Given the description of an element on the screen output the (x, y) to click on. 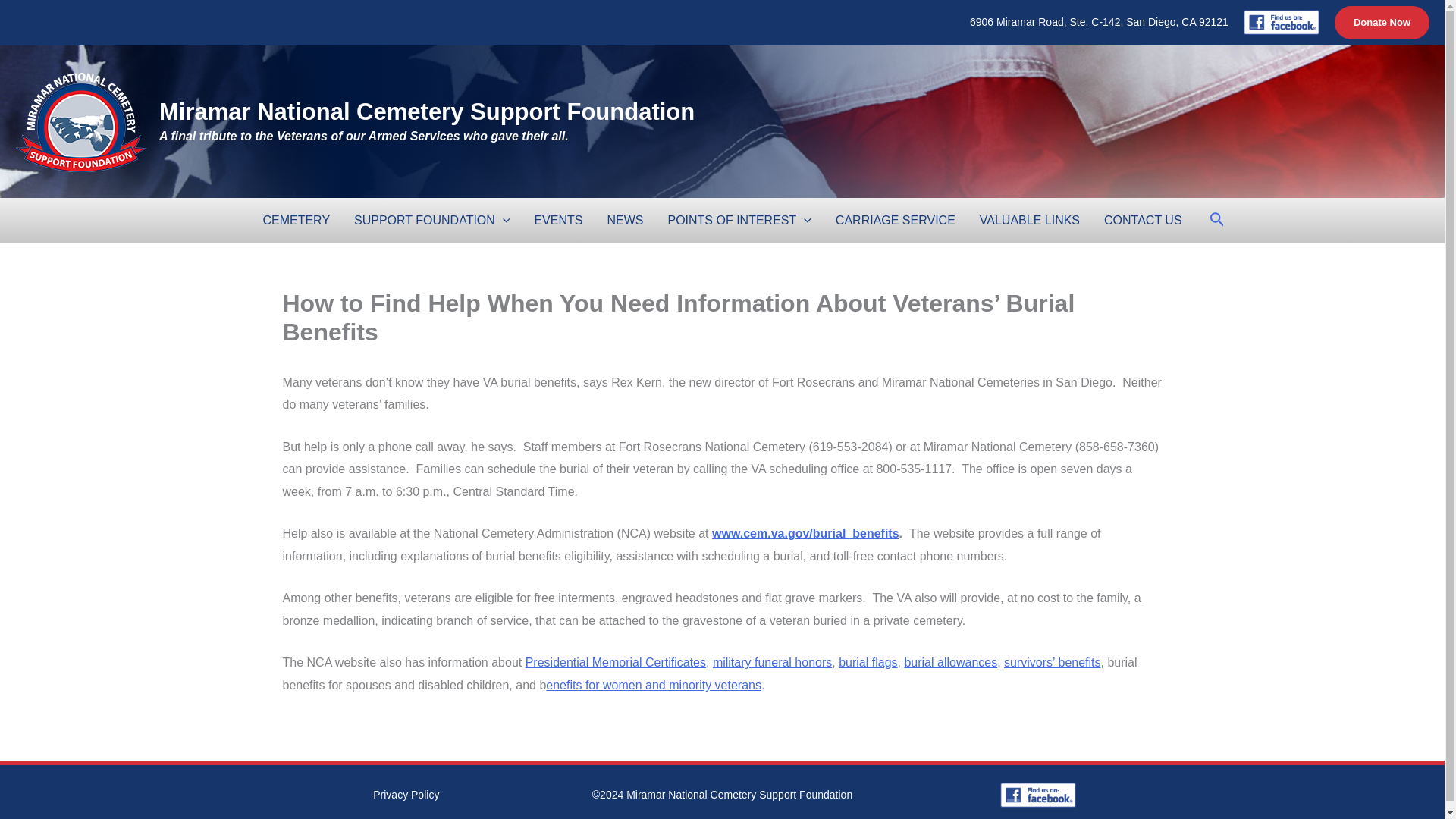
Miramar National Cemetery Support Foundation (426, 111)
POINTS OF INTEREST (738, 220)
NEWS (624, 220)
EVENTS (557, 220)
CARRIAGE SERVICE (896, 220)
SUPPORT FOUNDATION (431, 220)
Donate Now (1382, 22)
CEMETERY (296, 220)
VALUABLE LINKS (1030, 220)
CONTACT US (1142, 220)
